Given the description of an element on the screen output the (x, y) to click on. 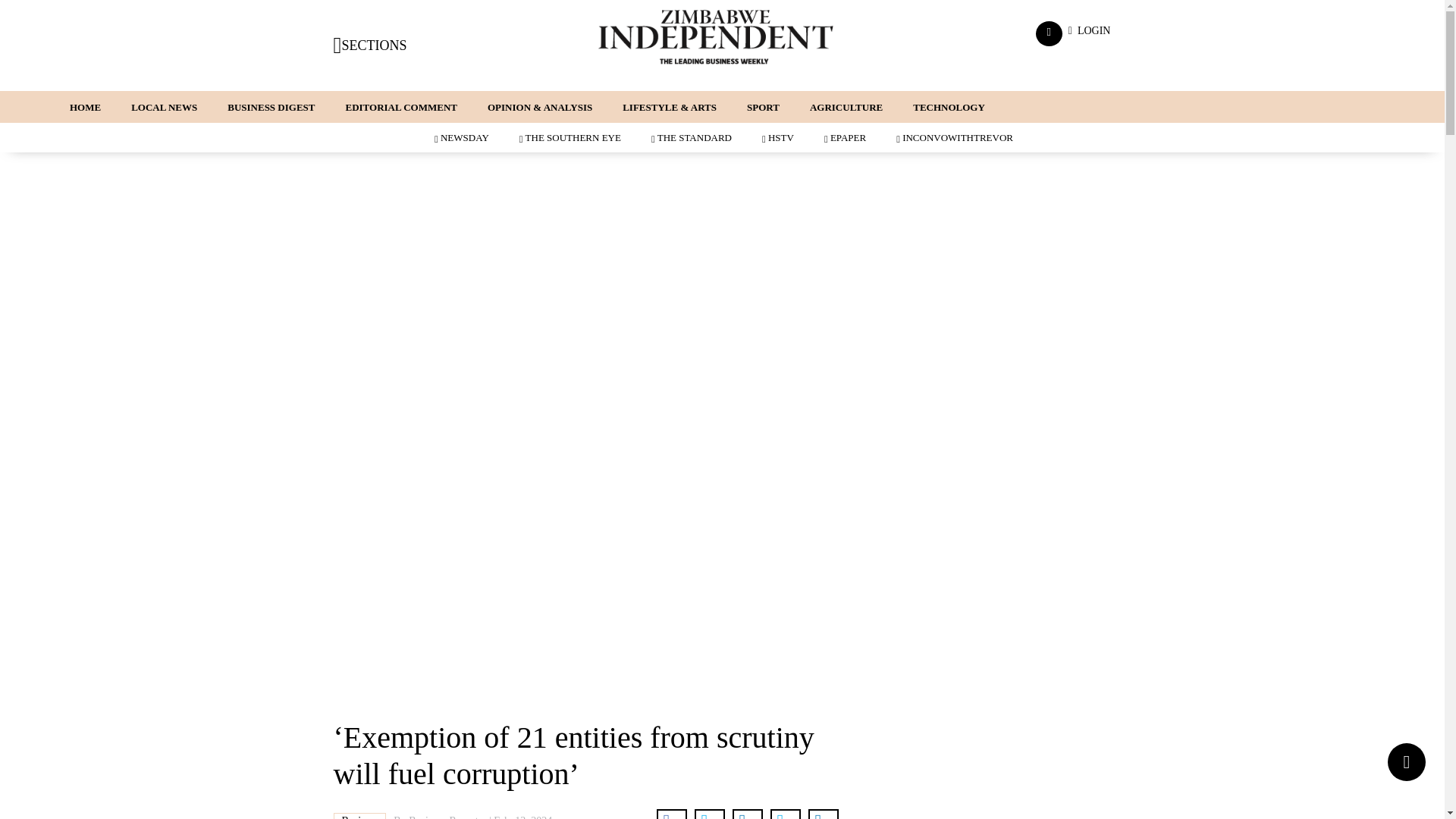
3rd party ad content (721, 670)
